Given the description of an element on the screen output the (x, y) to click on. 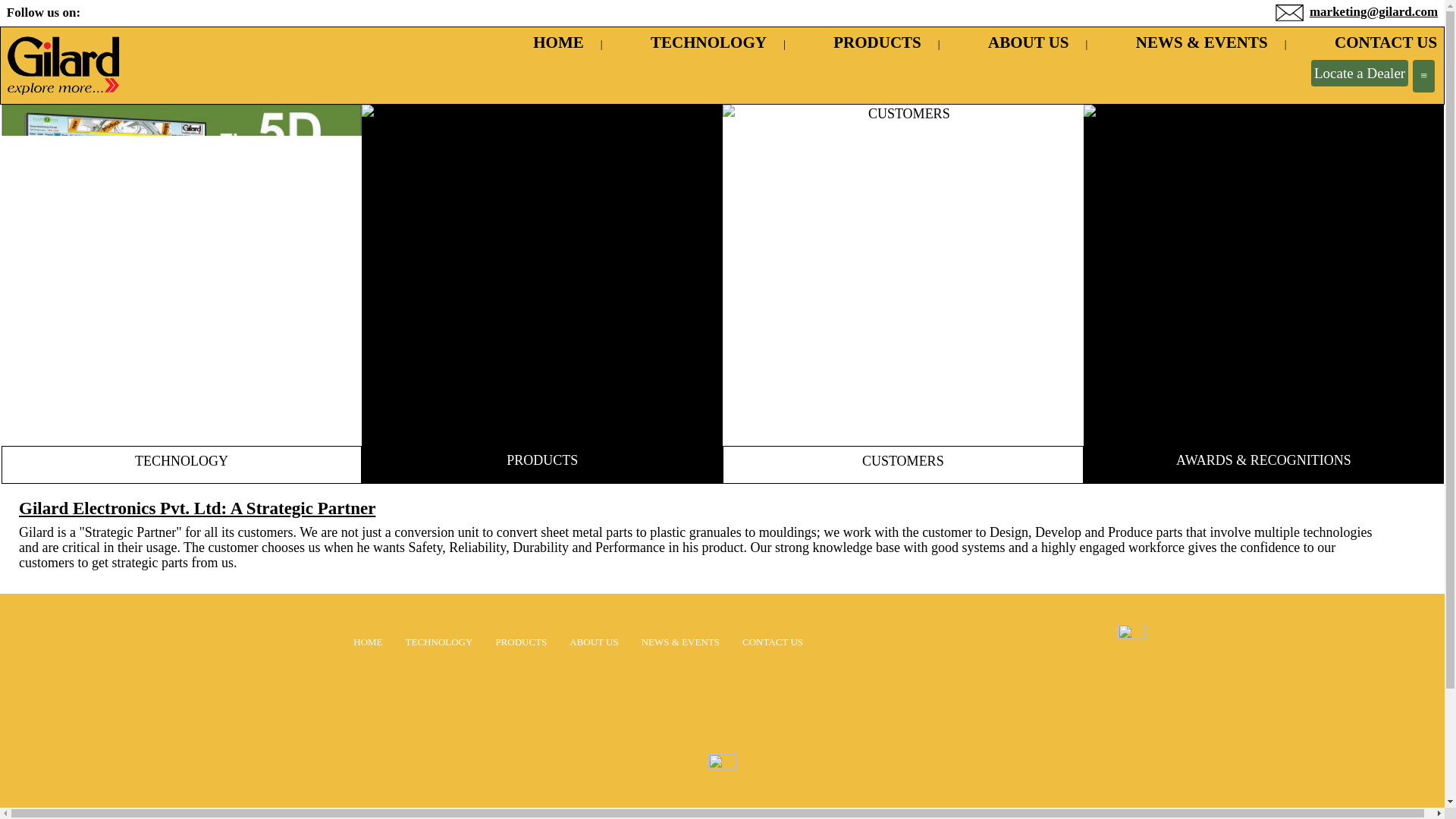
ABOUT US (593, 641)
ABOUT US (1013, 42)
HOME (543, 42)
Locate a Dealer (1359, 74)
PRODUCTS (862, 42)
PRODUCTS (521, 641)
TECHNOLOGY (694, 42)
CONTACT US (772, 641)
CONTACT US (1362, 42)
Locate a Dealer (1359, 72)
